Given the description of an element on the screen output the (x, y) to click on. 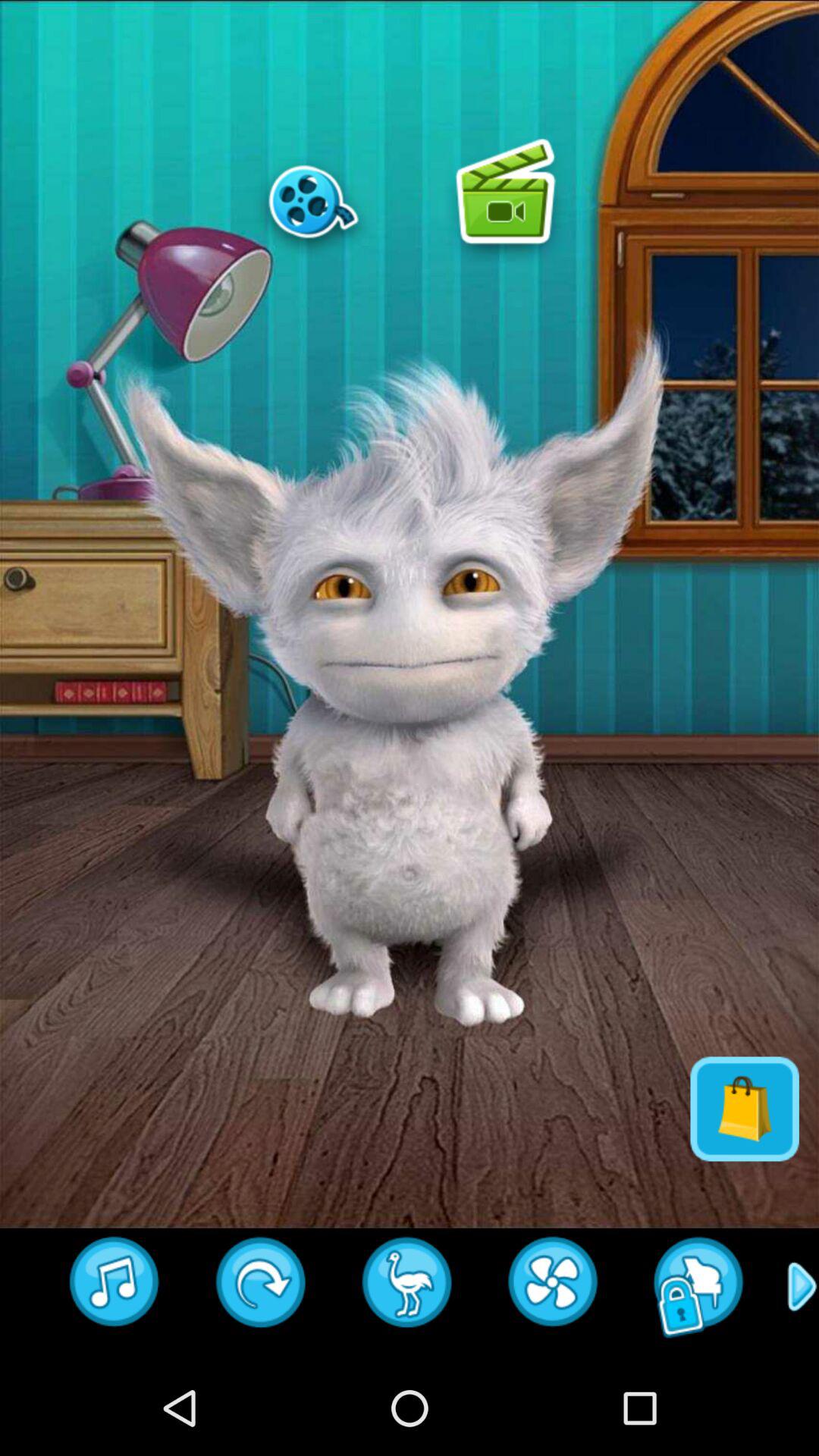
turn around (261, 1287)
